Given the description of an element on the screen output the (x, y) to click on. 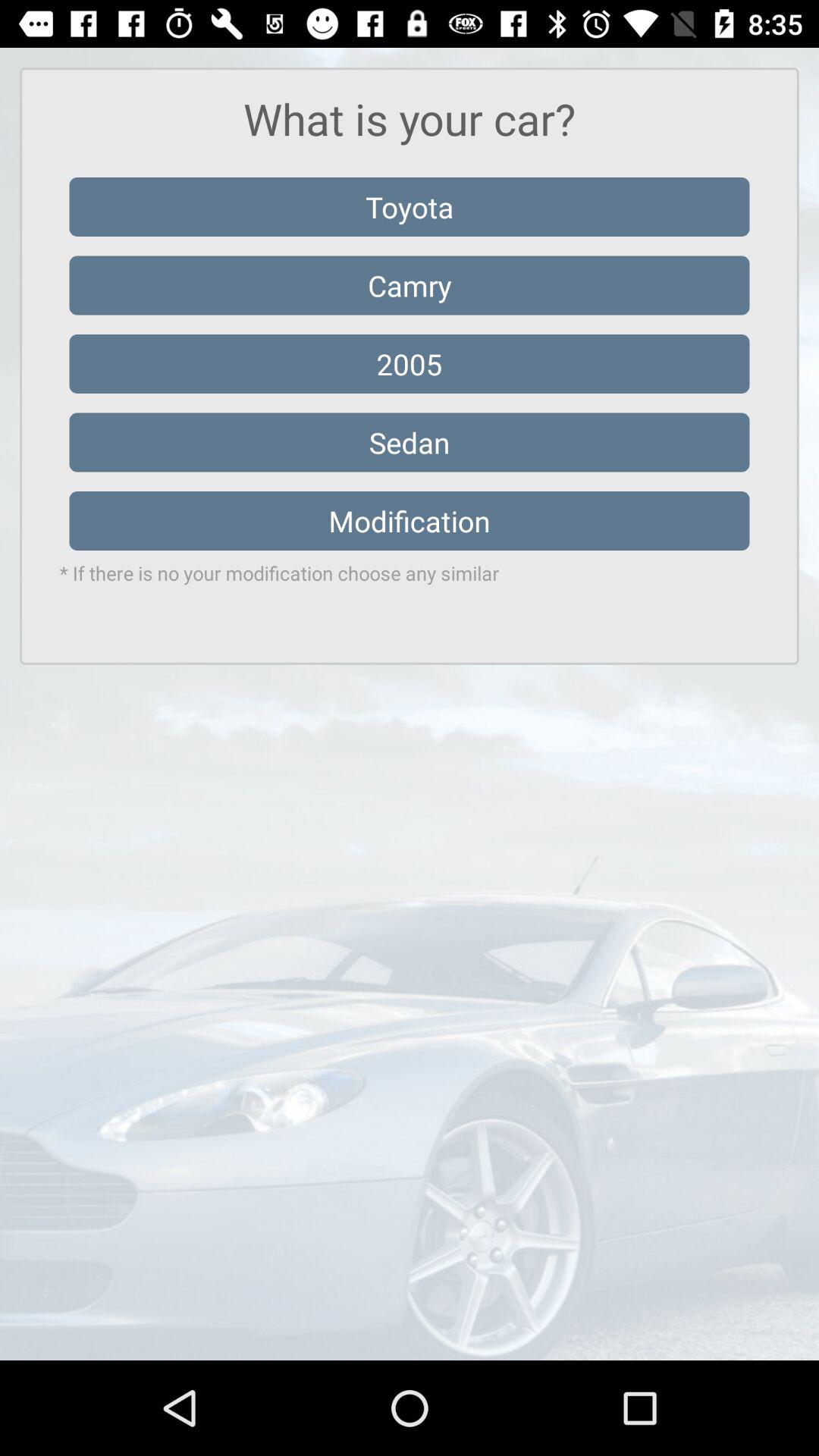
launch item above the sedan icon (409, 363)
